Given the description of an element on the screen output the (x, y) to click on. 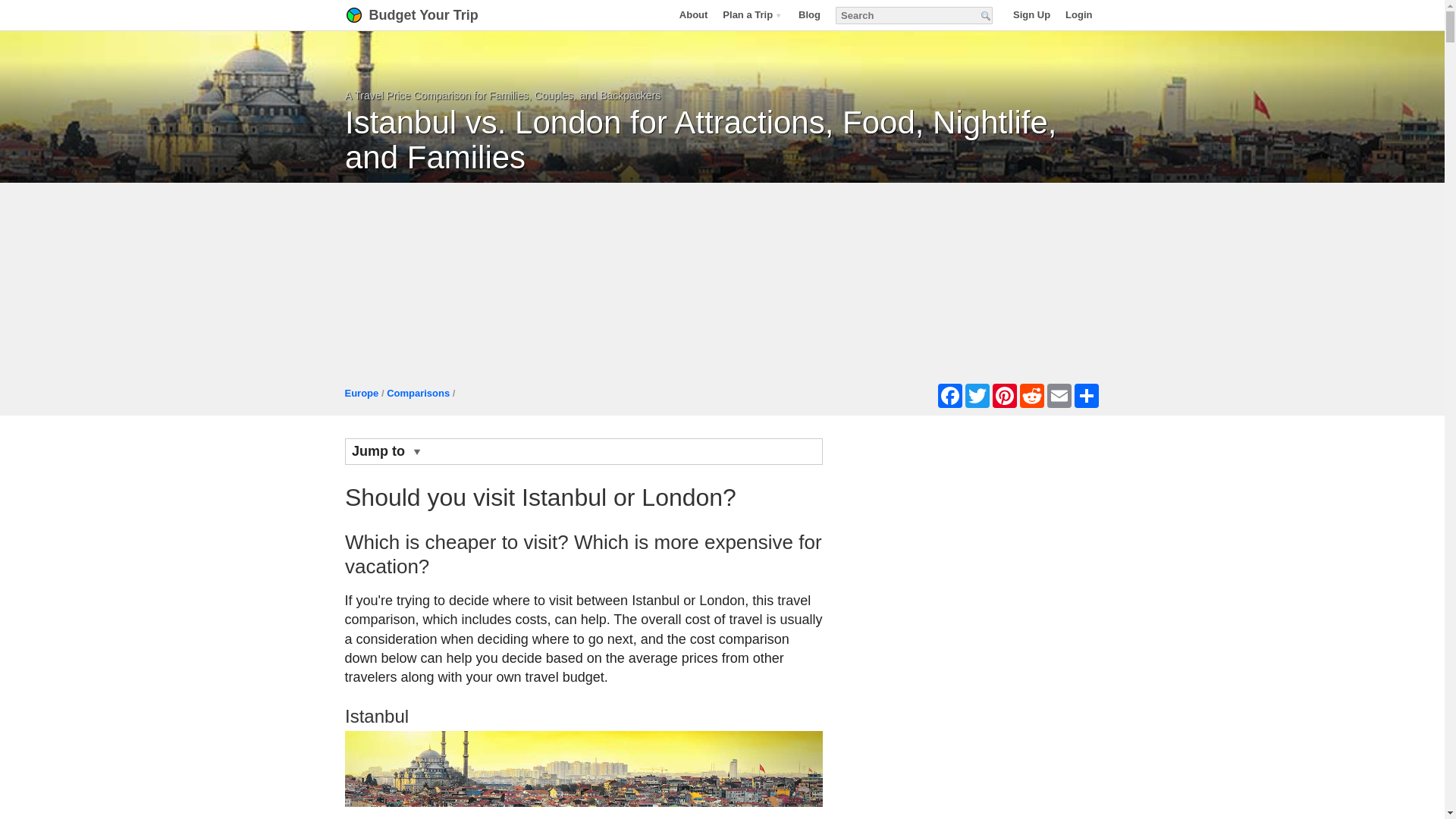
About (693, 14)
Comparisons (418, 392)
Budget Your Trip (431, 14)
Sign Up (1031, 14)
Pinterest (1003, 395)
Email (1058, 395)
Europe (360, 392)
Login (1078, 14)
Reddit (1031, 395)
Blog (809, 14)
